Given the description of an element on the screen output the (x, y) to click on. 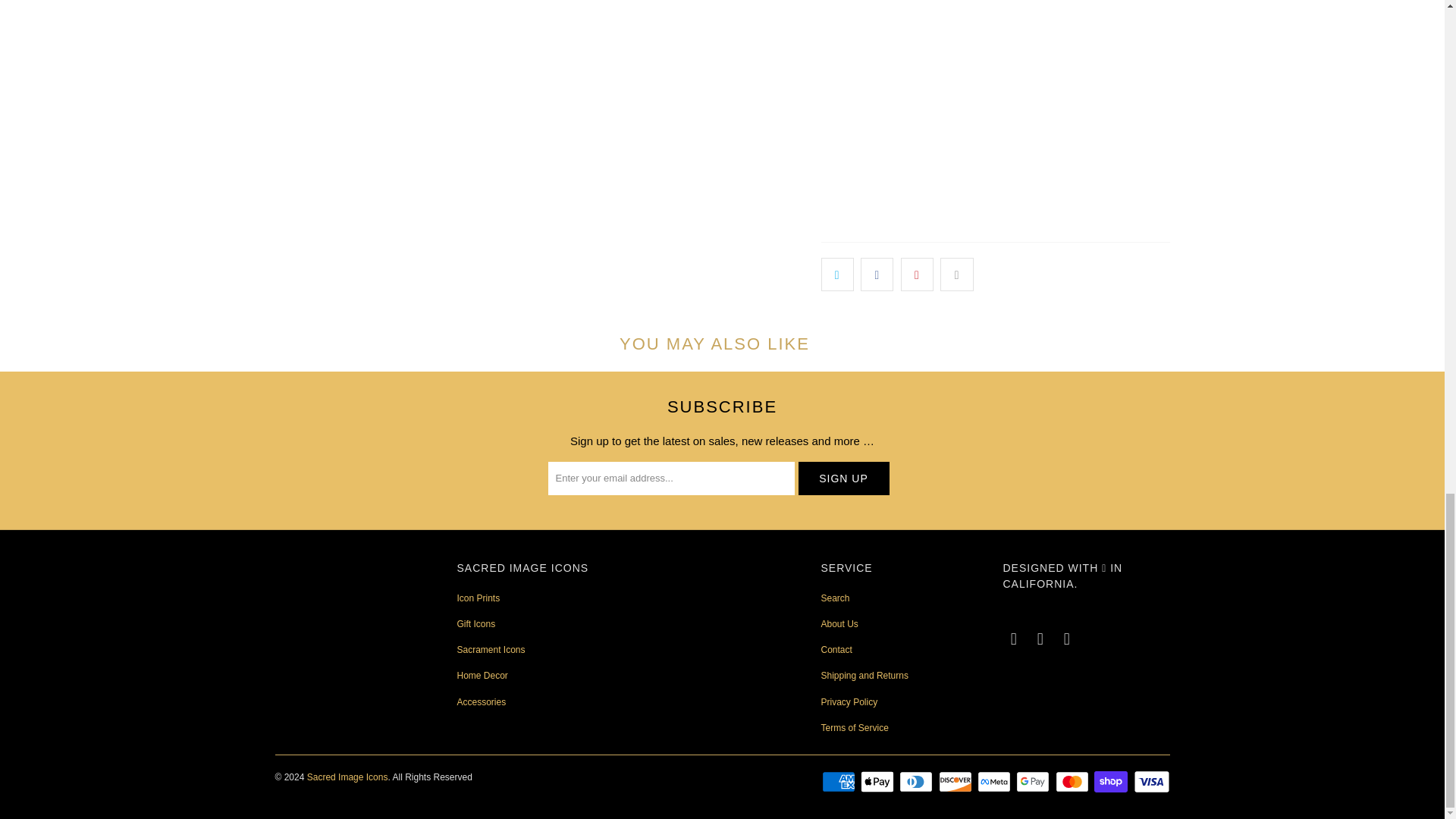
Share this on Twitter (837, 274)
American Express (840, 781)
Apple Pay (878, 781)
Meta Pay (994, 781)
Google Pay (1034, 781)
Email Sacred Image Icons (1067, 638)
Discover (957, 781)
Mastercard (1073, 781)
Diners Club (917, 781)
Sacred Image Icons on Instagram (1040, 638)
Share this on Facebook (876, 274)
Email this to a friend (956, 274)
Shop Pay (1112, 781)
Share this on Pinterest (917, 274)
Sign Up (842, 478)
